Given the description of an element on the screen output the (x, y) to click on. 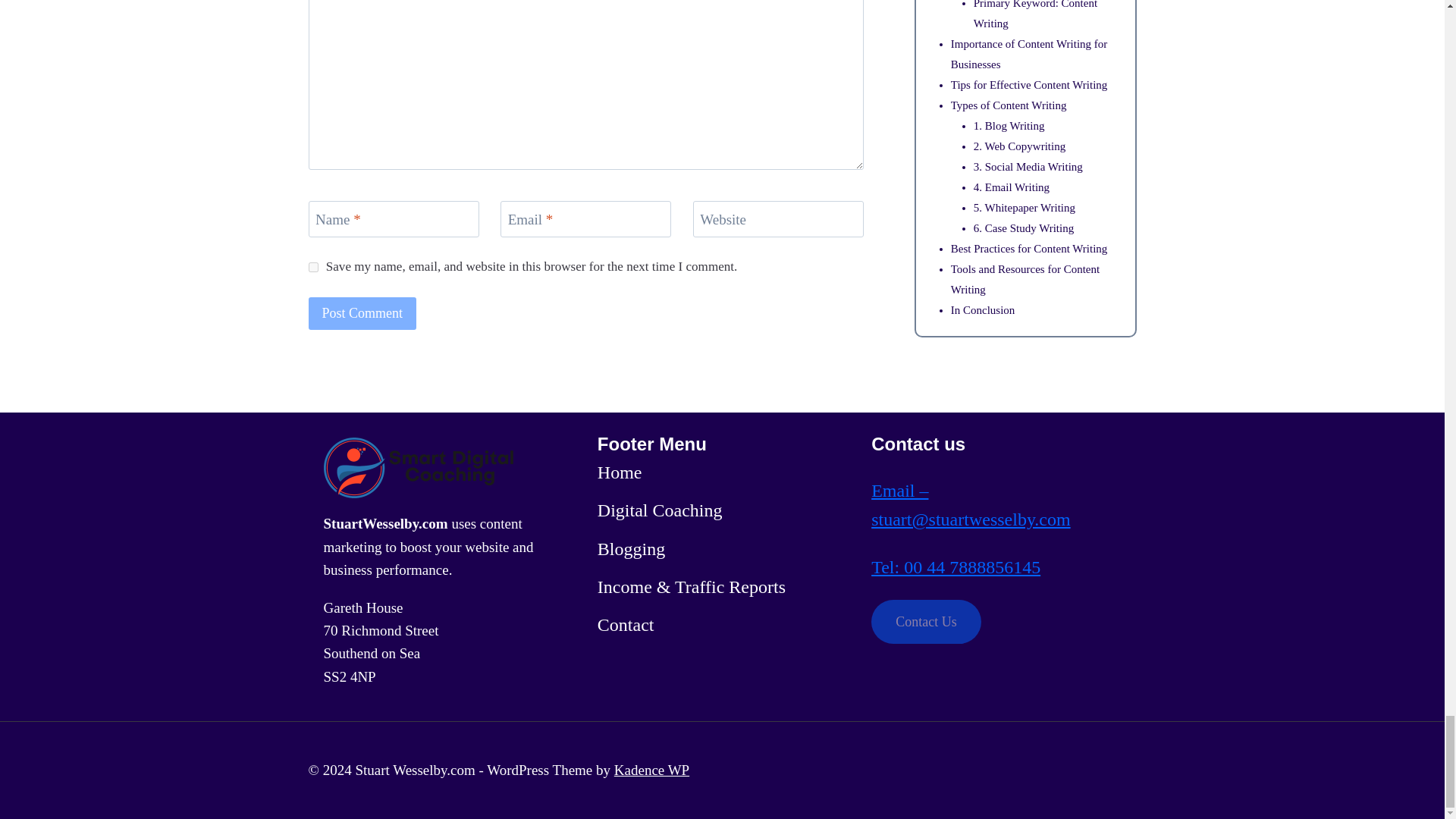
yes (312, 266)
Post Comment (361, 313)
